Given the description of an element on the screen output the (x, y) to click on. 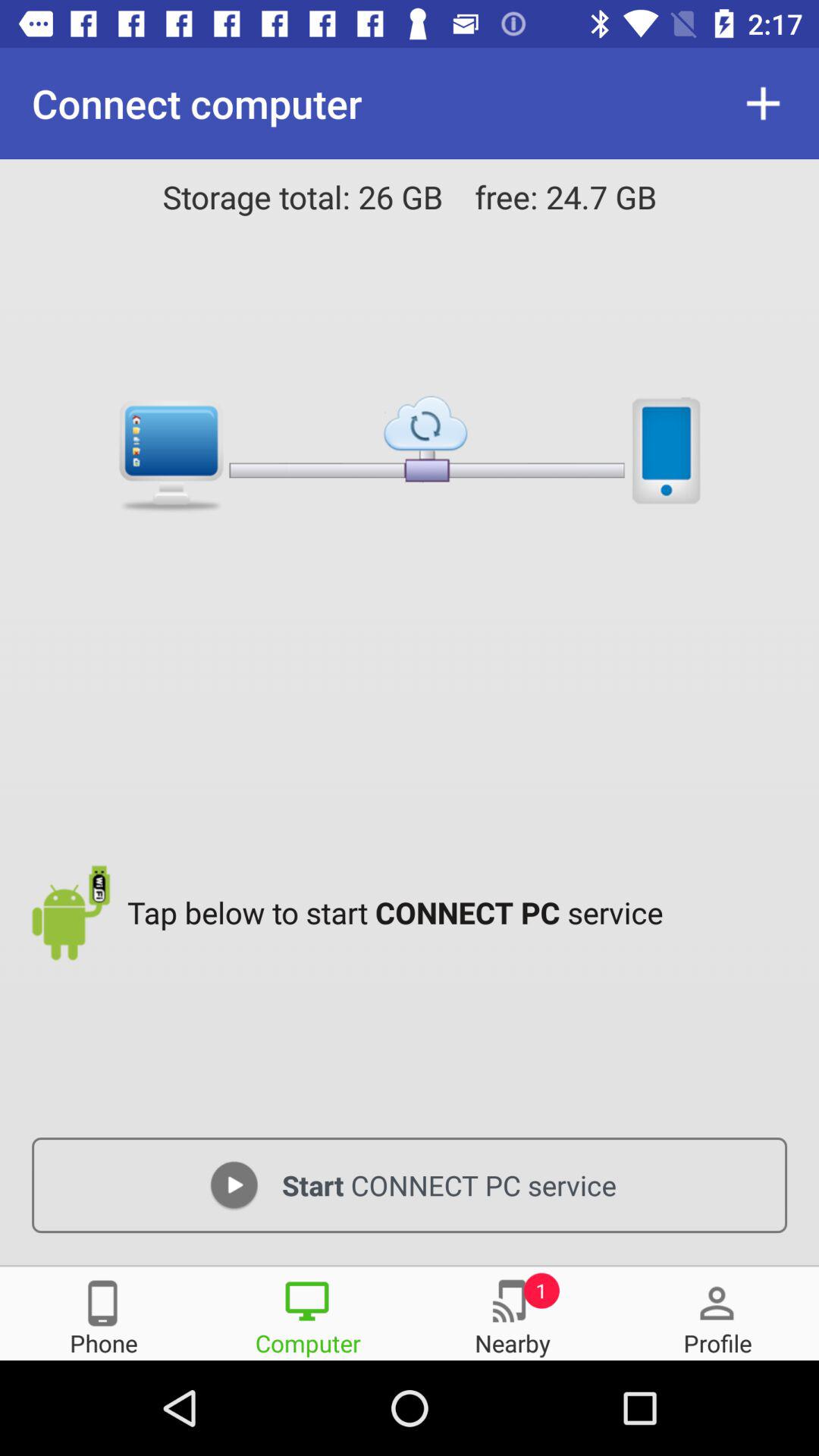
jump until the tap below to icon (461, 912)
